Given the description of an element on the screen output the (x, y) to click on. 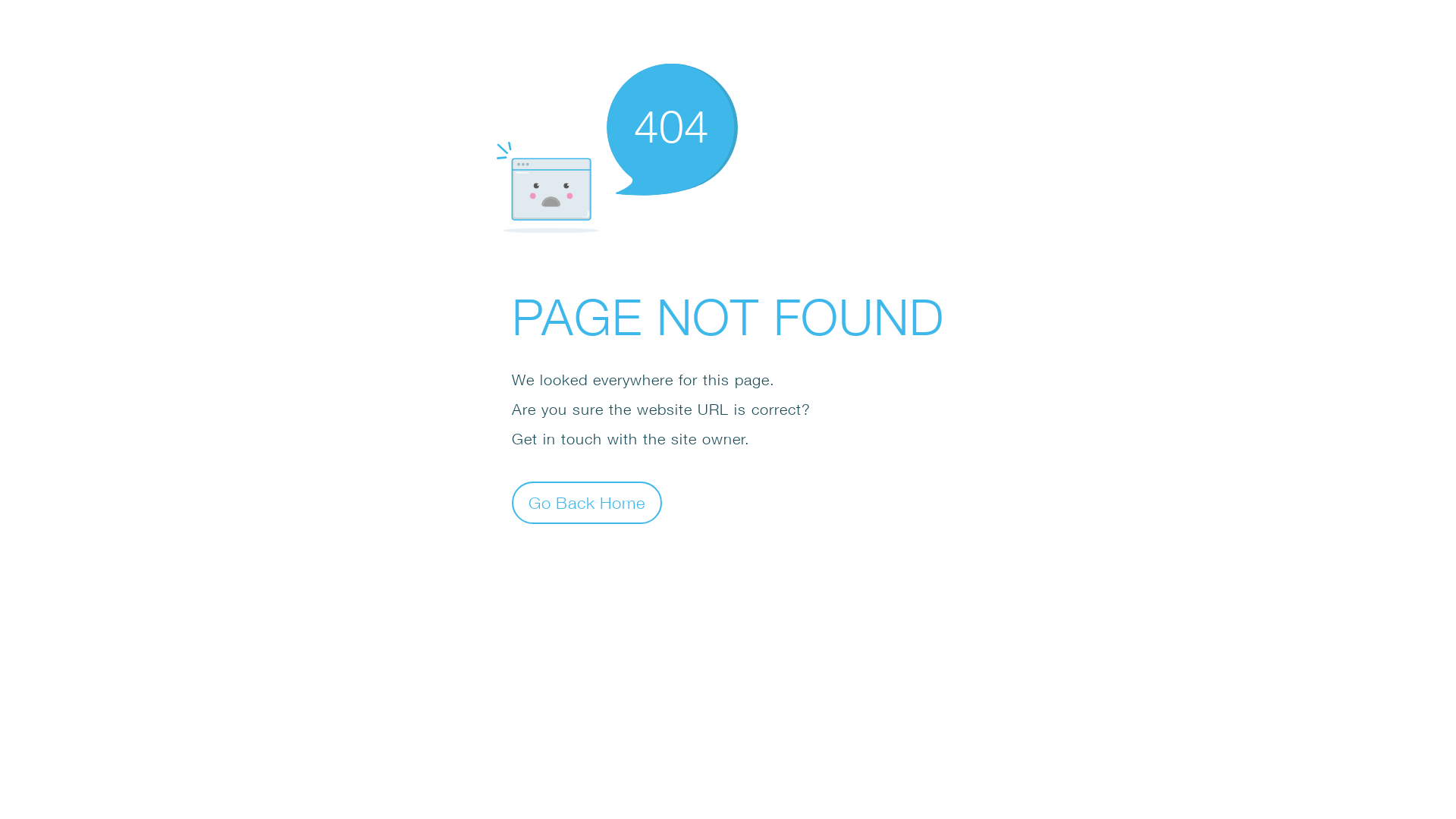
Go Back Home Element type: text (586, 502)
